Given the description of an element on the screen output the (x, y) to click on. 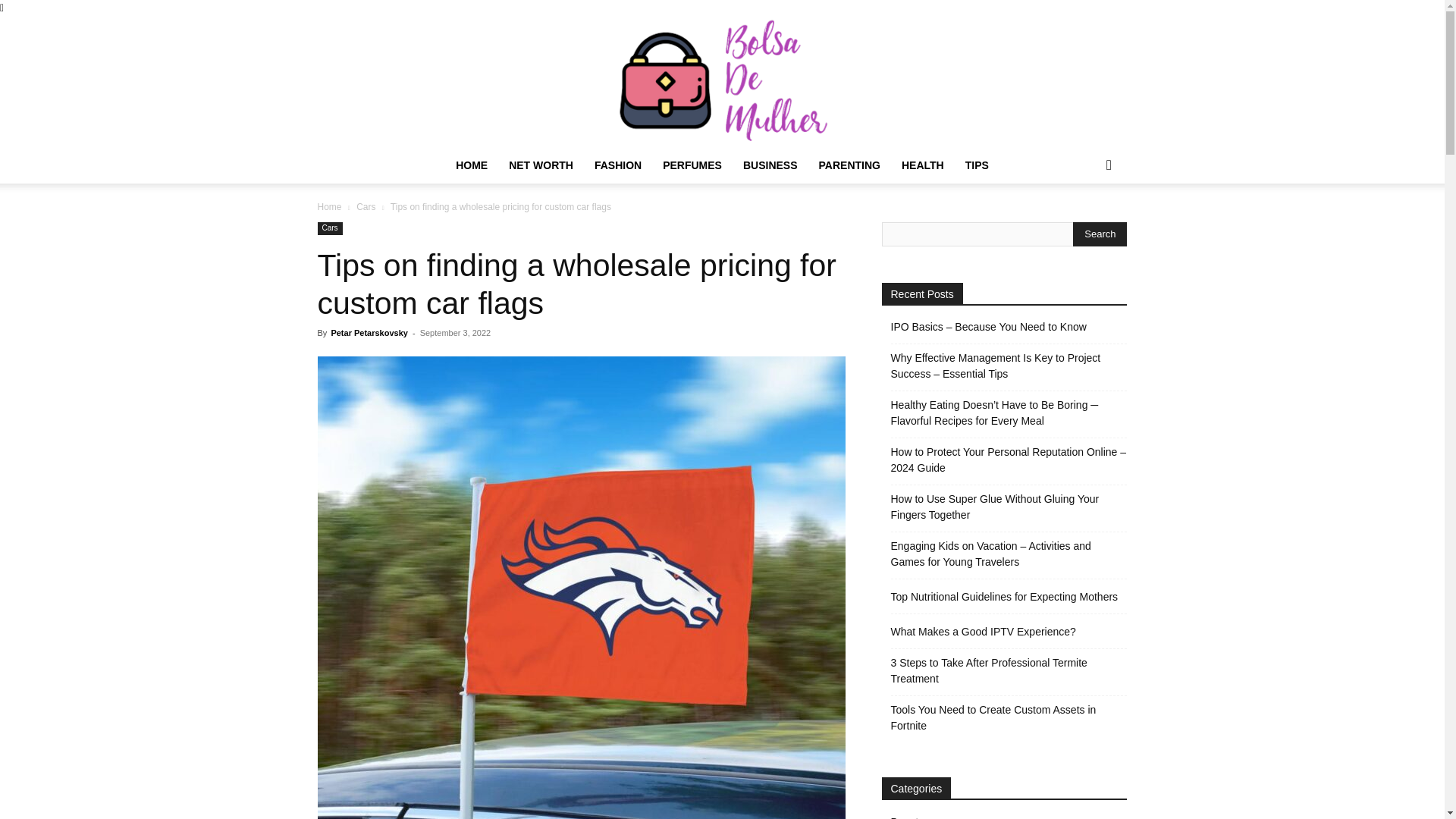
PERFUMES (692, 165)
TIPS (976, 165)
Search (1099, 233)
PARENTING (849, 165)
View all posts in Cars (365, 206)
Home (328, 206)
Petar Petarskovsky (368, 332)
BUSINESS (770, 165)
NET WORTH (540, 165)
